Given the description of an element on the screen output the (x, y) to click on. 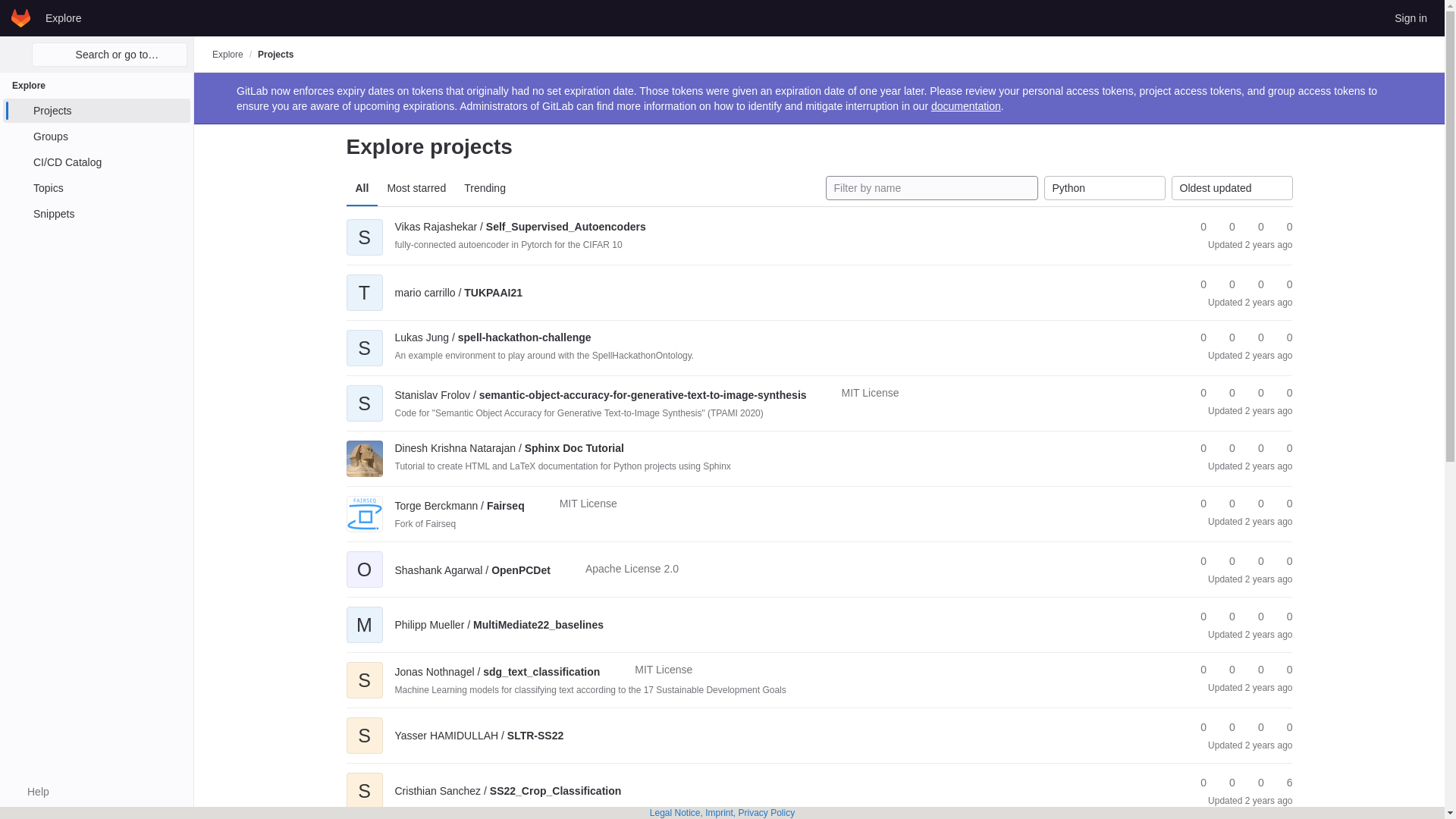
Homepage (20, 17)
Stars (1196, 227)
Projects (275, 54)
Snippets (96, 213)
Merge requests (1253, 284)
Forks (1224, 284)
TUKPAAI21 (458, 292)
Most starred (415, 187)
Explore (63, 17)
Sign in (1410, 17)
